Given the description of an element on the screen output the (x, y) to click on. 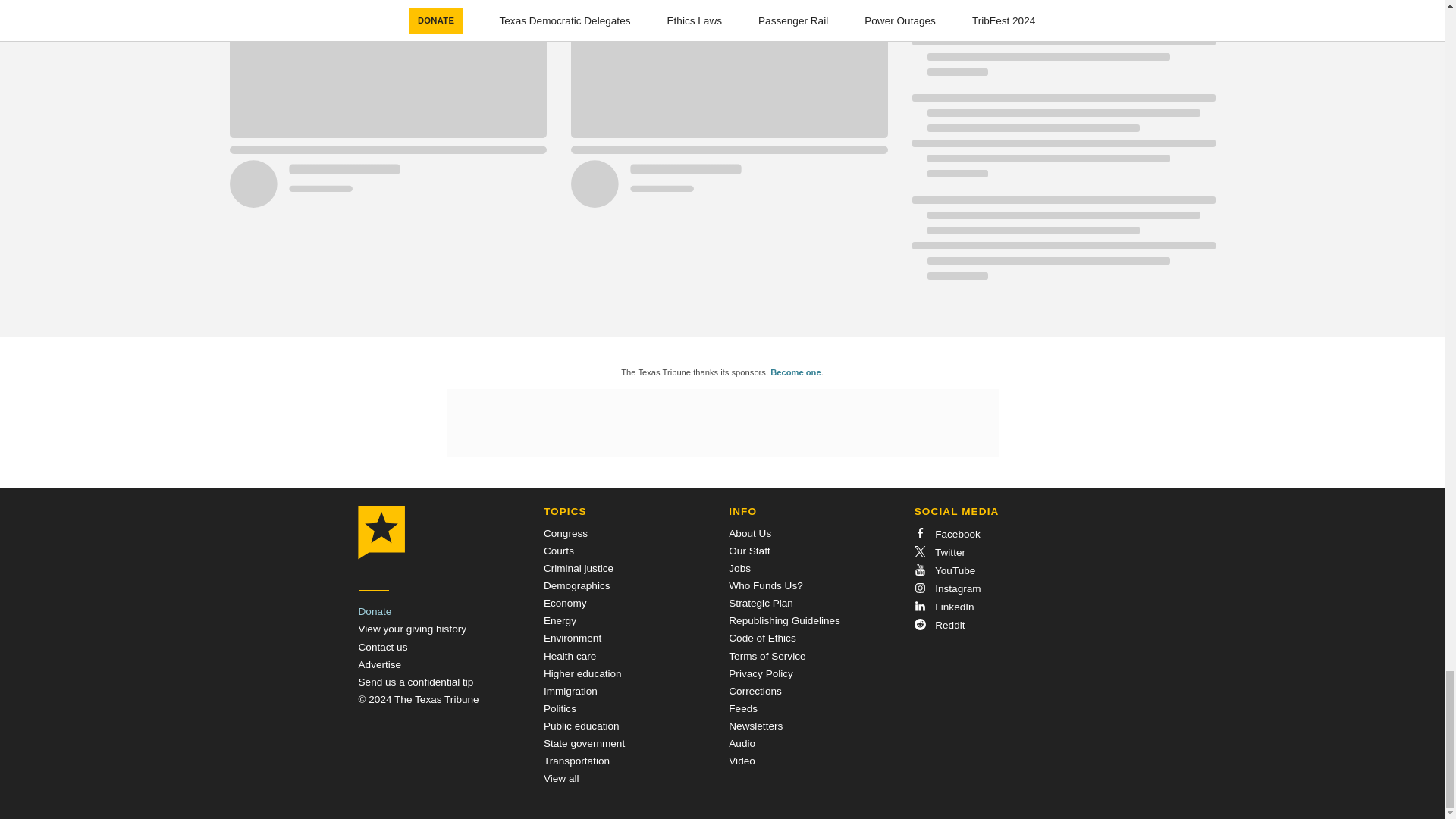
Newsletters (756, 726)
View your giving history (411, 628)
Republishing Guidelines (784, 620)
Send a Tip (415, 681)
Privacy Policy (761, 673)
Who Funds Us? (765, 585)
Feeds (743, 708)
Corrections (755, 690)
Advertise (379, 664)
Code of Ethics (761, 637)
Donate (374, 611)
About Us (750, 532)
Contact us (382, 646)
Audio (742, 743)
Strategic Plan (761, 603)
